Given the description of an element on the screen output the (x, y) to click on. 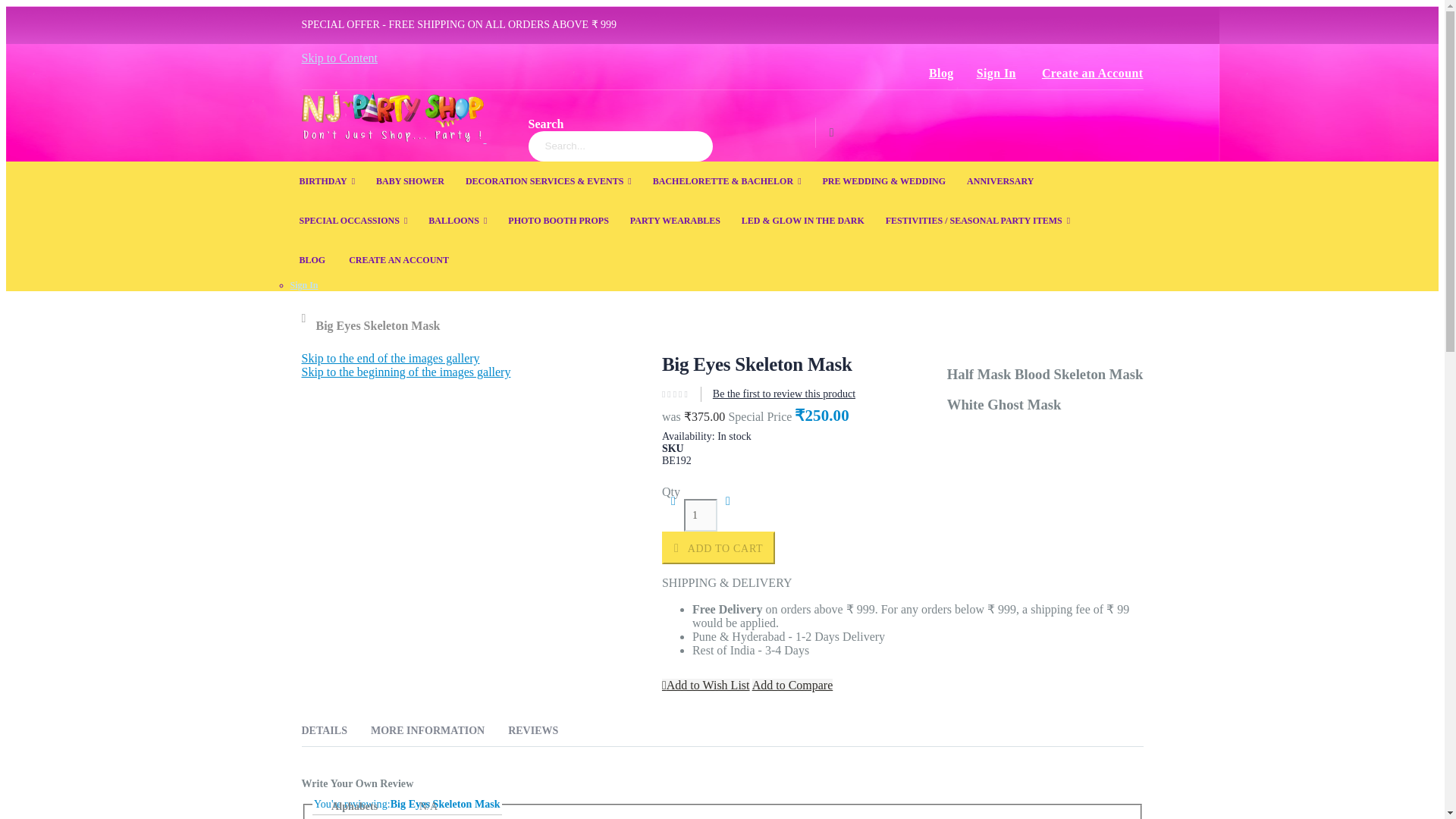
Availability (902, 436)
Skip to Content (339, 57)
1 (700, 514)
BABY SHOWER (409, 180)
Blog (941, 73)
Sign In (996, 73)
BIRTHDAY (326, 180)
Add to Cart (718, 547)
Search (831, 132)
Search (831, 132)
Qty (700, 514)
Create an Account (1086, 73)
